Given the description of an element on the screen output the (x, y) to click on. 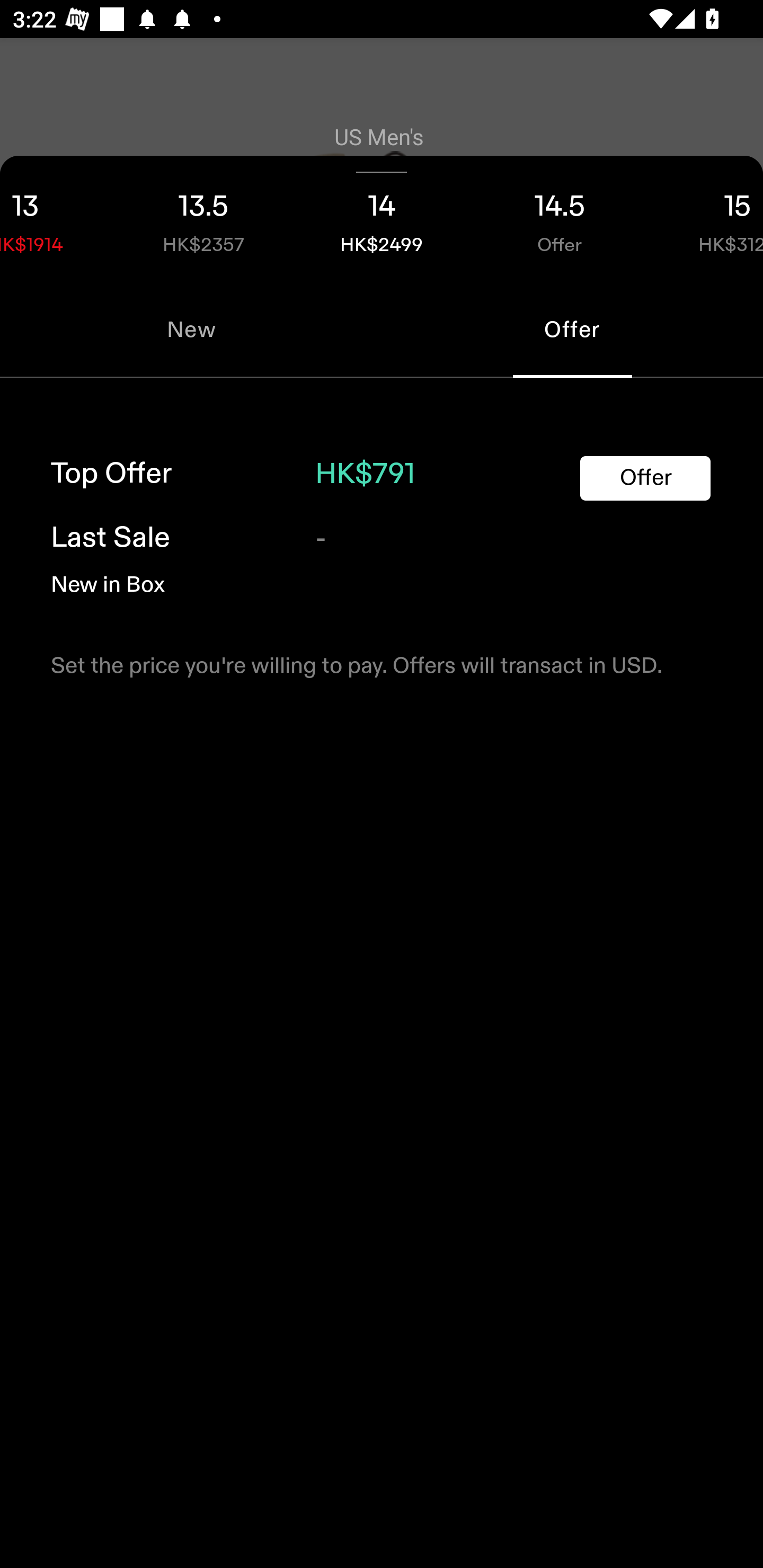
13 HK$1914 (57, 218)
13.5 HK$2357 (203, 218)
14 HK$2499 (381, 218)
14.5 Offer (559, 218)
15 HK$3124 (705, 218)
New (190, 329)
Offer (644, 477)
